Given the description of an element on the screen output the (x, y) to click on. 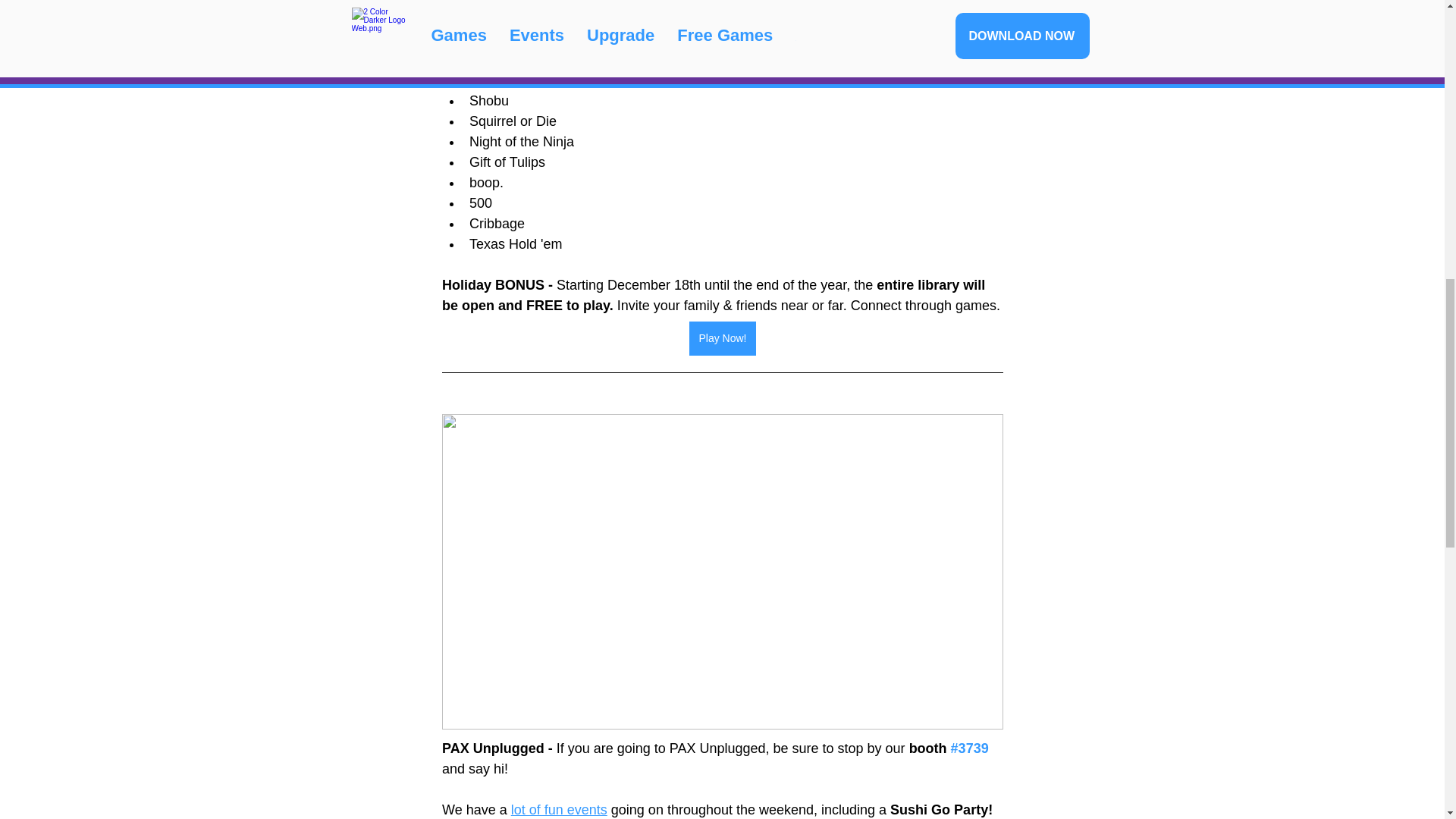
lot of fun events (559, 809)
Play Now! (721, 338)
